Given the description of an element on the screen output the (x, y) to click on. 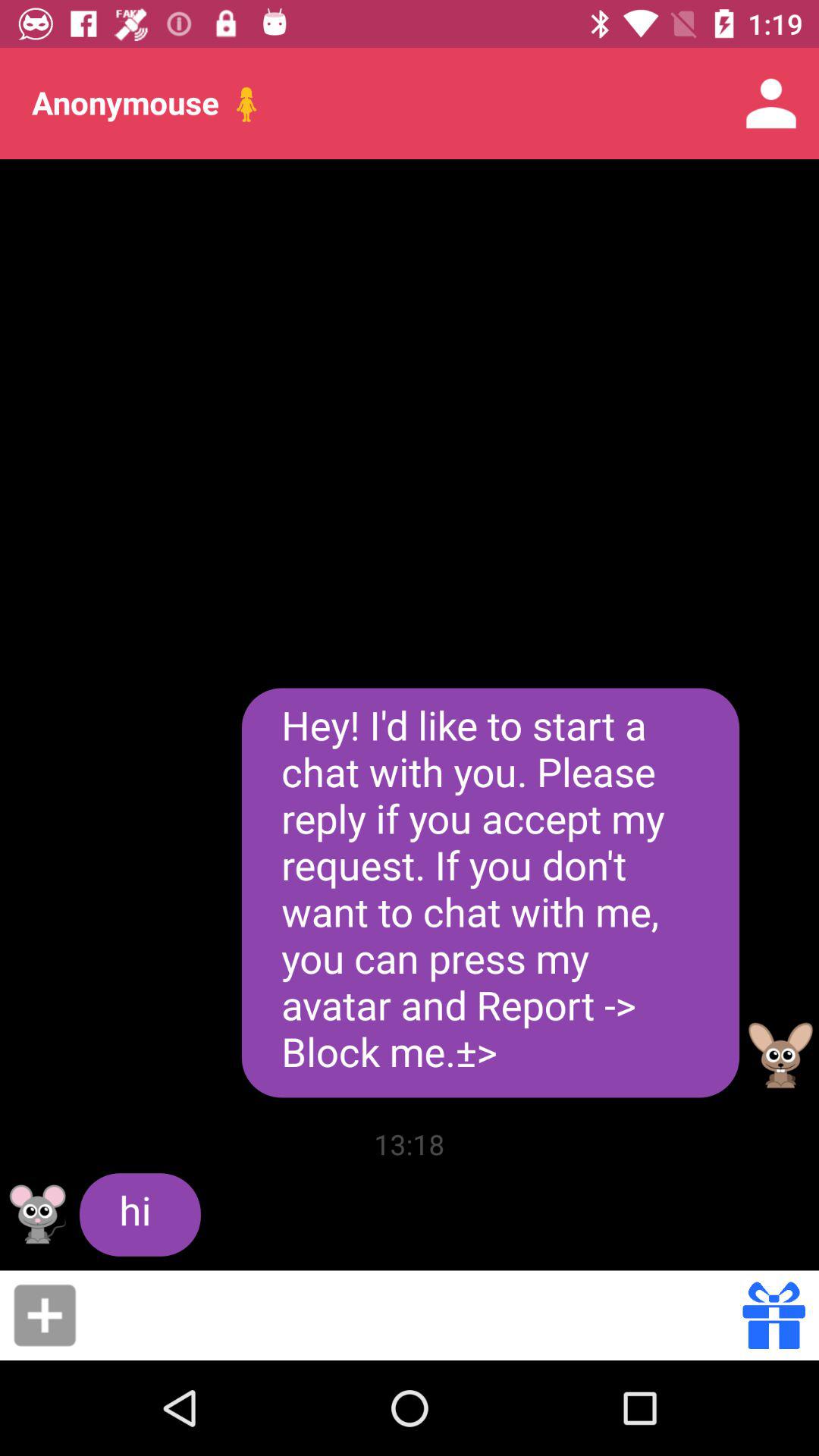
click the hey i d (490, 892)
